Given the description of an element on the screen output the (x, y) to click on. 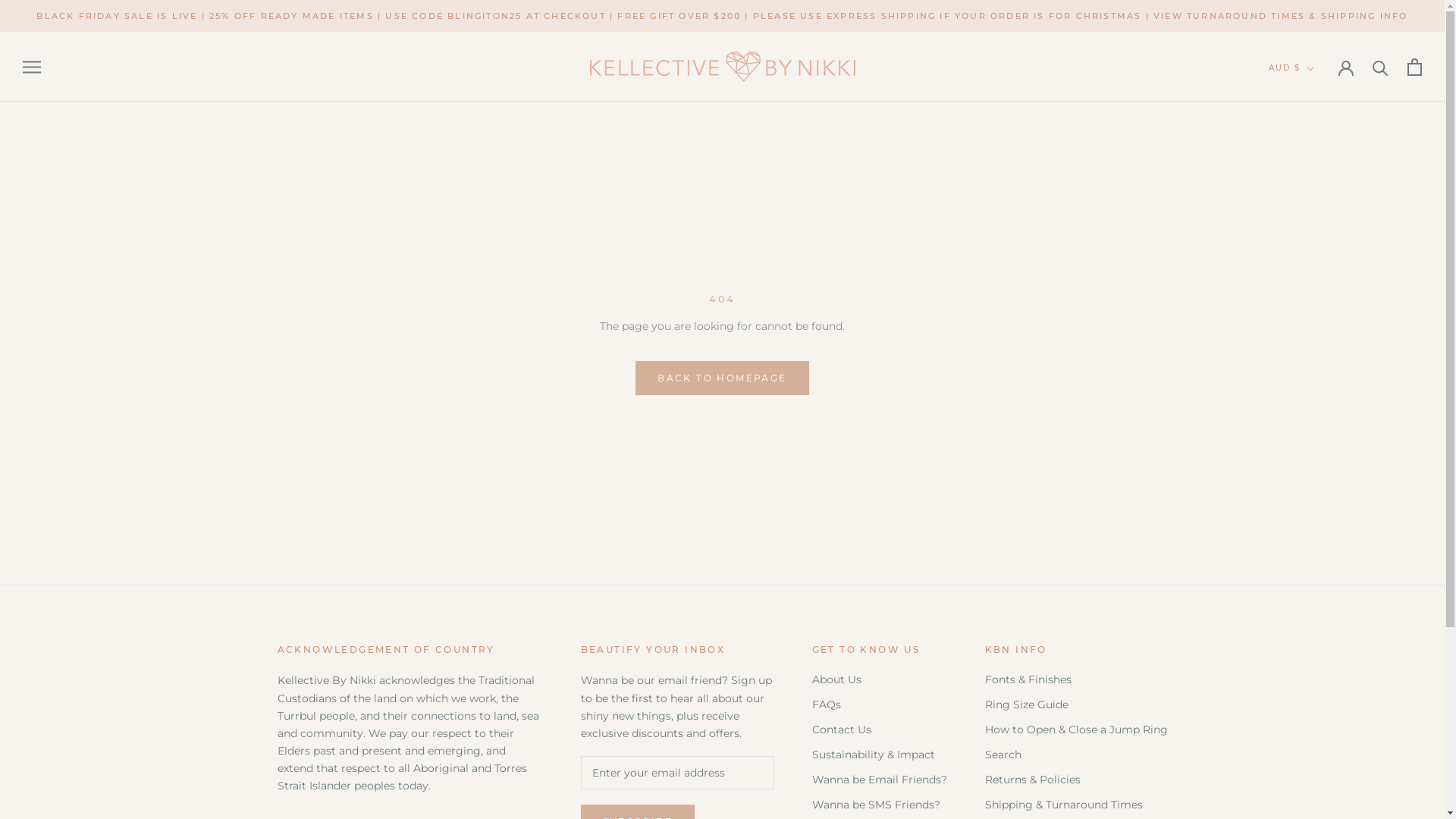
Shipping & Turnaround Times Element type: text (1075, 804)
BACK TO HOMEPAGE Element type: text (721, 377)
Ring Size Guide Element type: text (1075, 704)
Fonts & Finishes Element type: text (1075, 679)
NZD Element type: text (1308, 119)
Wanna be SMS Friends? Element type: text (878, 804)
AUD $ Element type: text (1291, 68)
Sustainability & Impact Element type: text (878, 754)
About Us Element type: text (878, 679)
AUD Element type: text (1308, 100)
Contact Us Element type: text (878, 729)
Returns & Policies Element type: text (1075, 779)
How to Open & Close a Jump Ring Element type: text (1075, 729)
Wanna be Email Friends? Element type: text (878, 779)
FAQs Element type: text (878, 704)
USD Element type: text (1308, 140)
Search Element type: text (1075, 754)
